Given the description of an element on the screen output the (x, y) to click on. 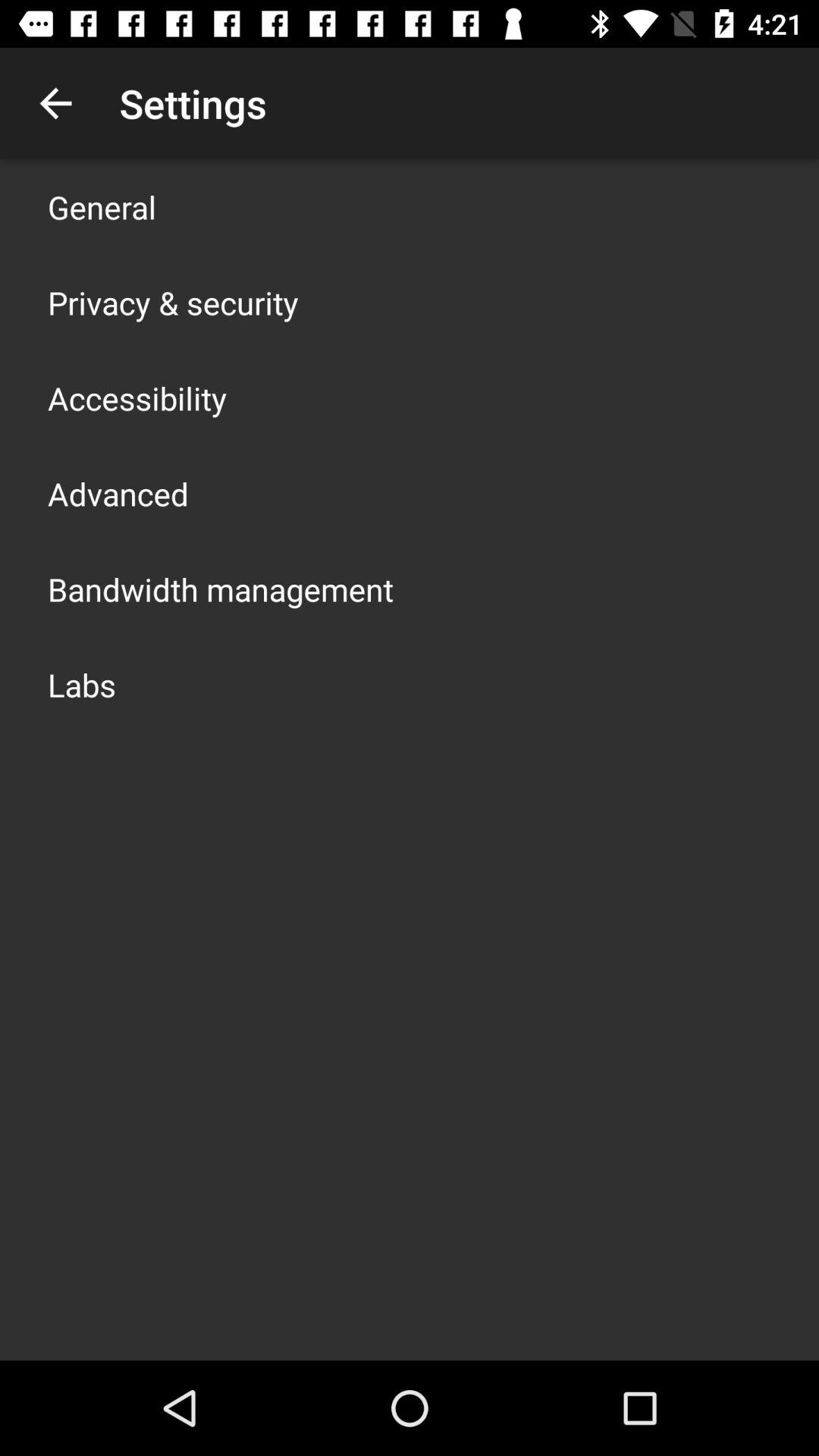
select the app above the privacy & security (101, 206)
